Given the description of an element on the screen output the (x, y) to click on. 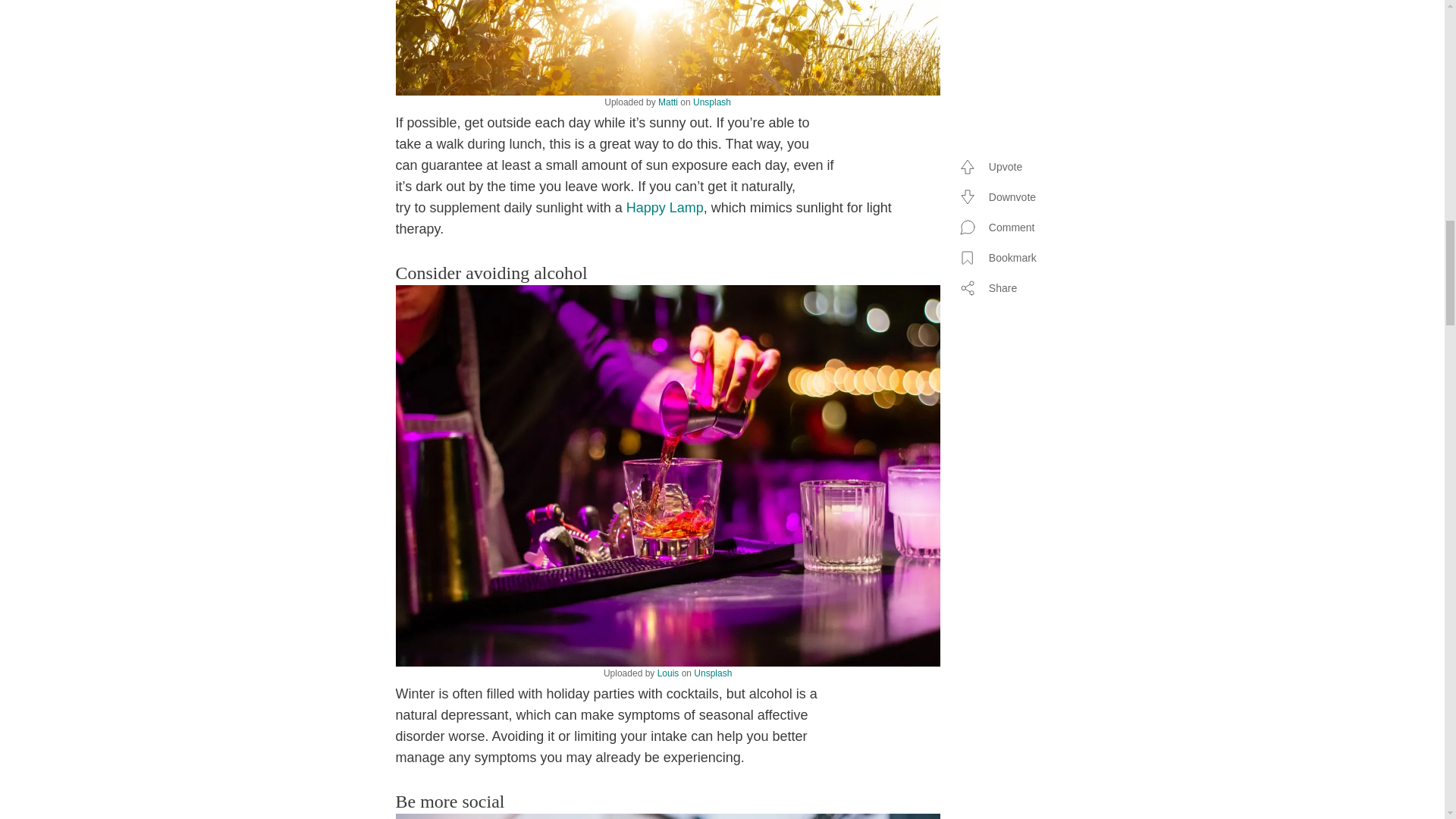
Unsplash (713, 673)
Louis (668, 673)
Happy Lamp (664, 207)
Unsplash (711, 102)
Matti (668, 102)
